Given the description of an element on the screen output the (x, y) to click on. 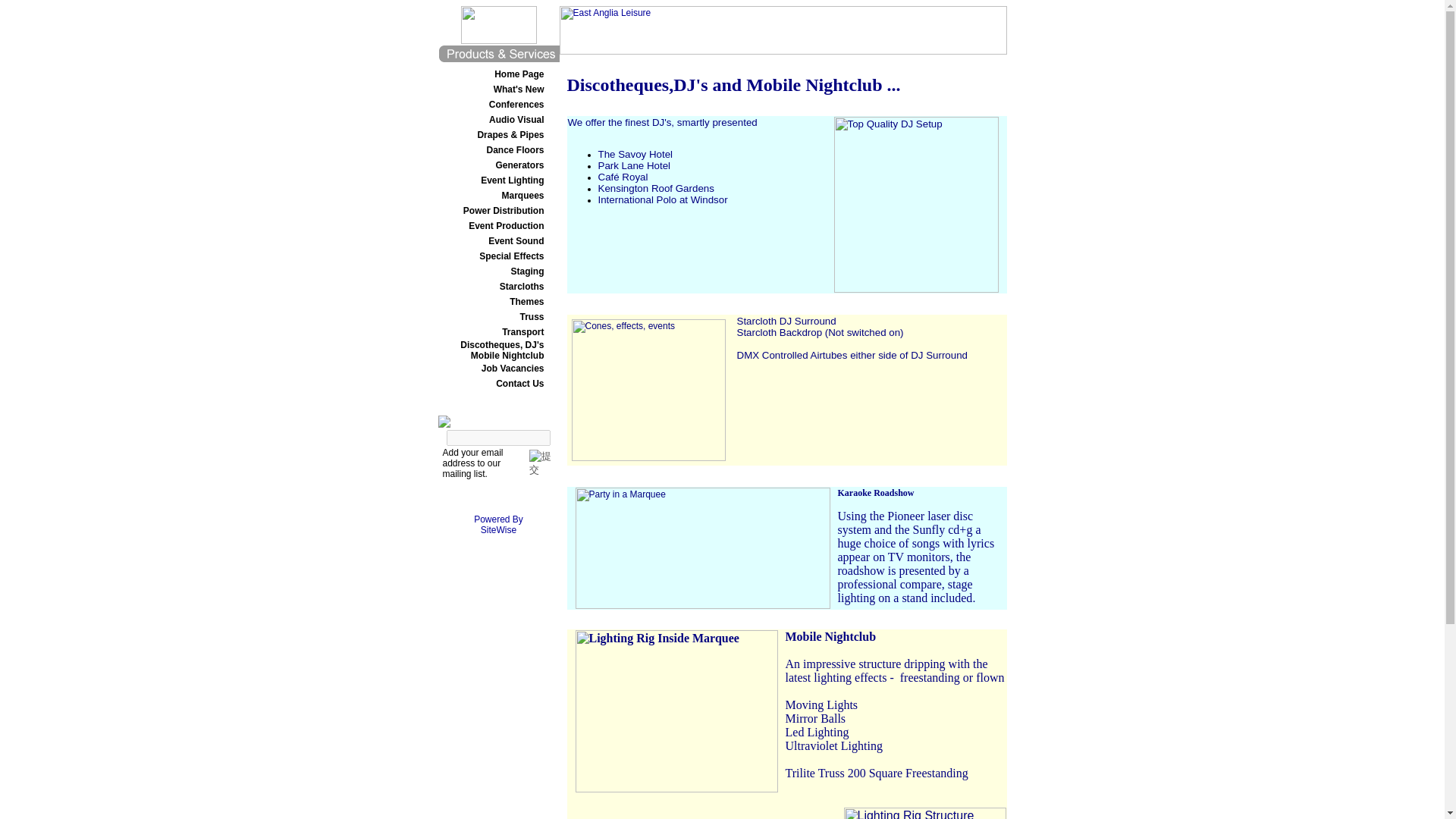
Special Effects (511, 255)
Starcloths (521, 286)
Event Lighting (511, 180)
Audio Visual (516, 119)
Power Distribution (503, 210)
Contact Us (519, 383)
Dance Floors (514, 149)
Staging (527, 271)
Conferences (516, 104)
Marquees (521, 195)
